Given the description of an element on the screen output the (x, y) to click on. 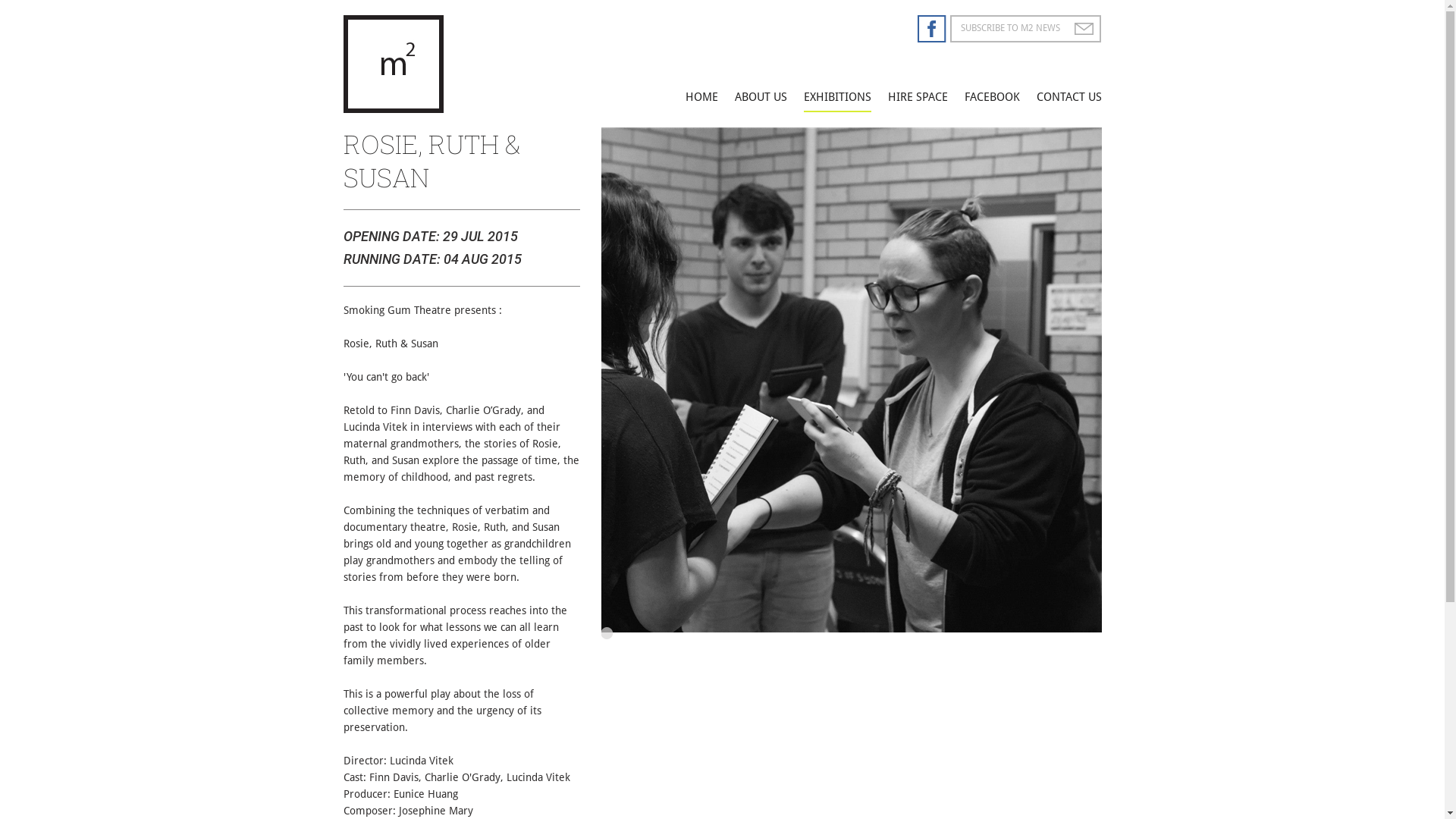
CONTACT US Element type: text (1068, 96)
EXHIBITIONS Element type: text (837, 96)
ABOUT US Element type: text (760, 96)
SUBSCRIBE TO M2 NEWS Element type: text (1013, 27)
HOME Element type: text (701, 96)
FACEBOOK Element type: text (991, 96)
HIRE SPACE Element type: text (917, 96)
